Given the description of an element on the screen output the (x, y) to click on. 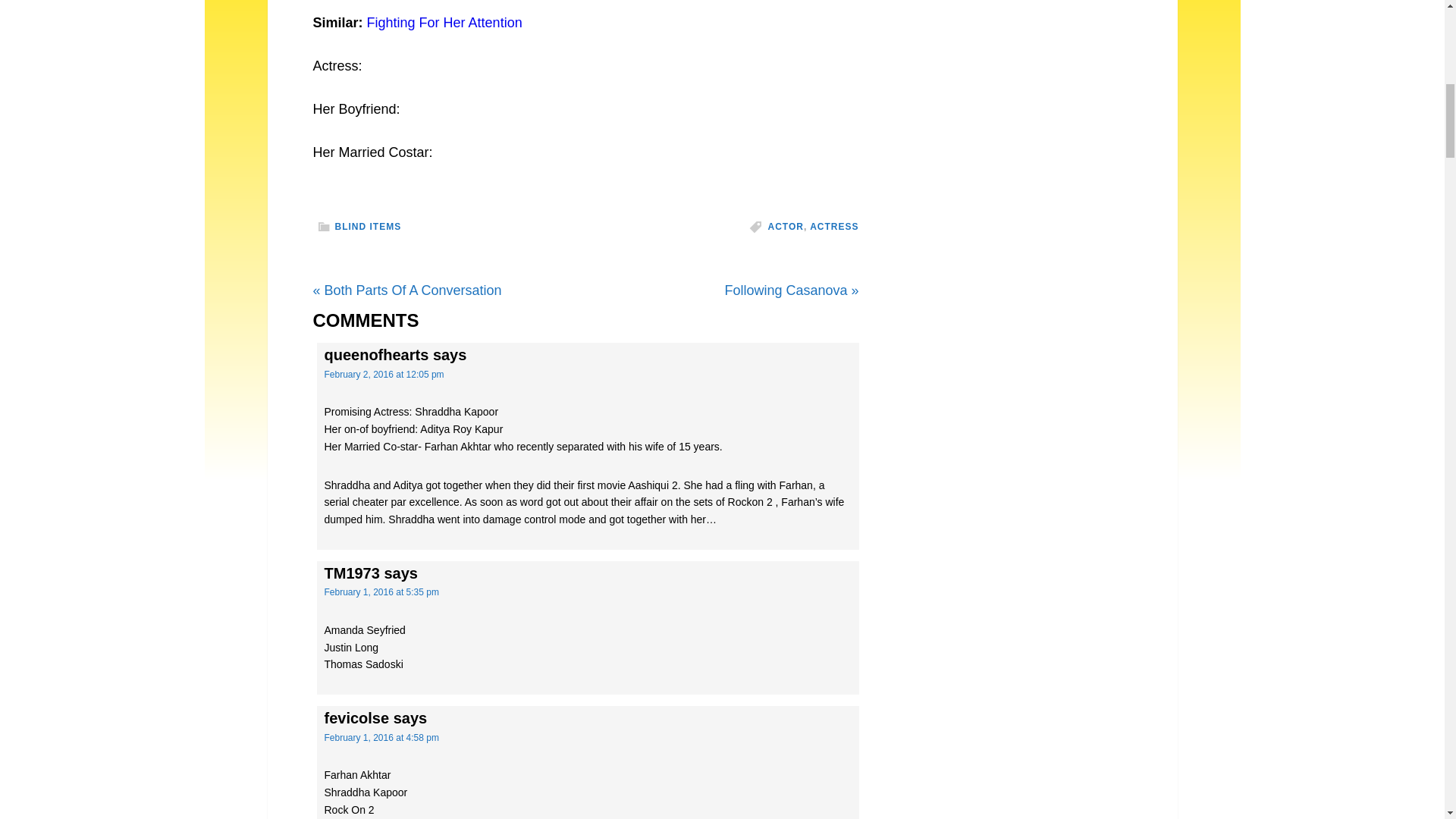
February 1, 2016 at 4:58 pm (381, 737)
BLIND ITEMS (367, 226)
Fighting For Her Attention (444, 22)
ACTOR (785, 226)
ACTRESS (834, 226)
February 2, 2016 at 12:05 pm (384, 374)
February 1, 2016 at 5:35 pm (381, 592)
